Given the description of an element on the screen output the (x, y) to click on. 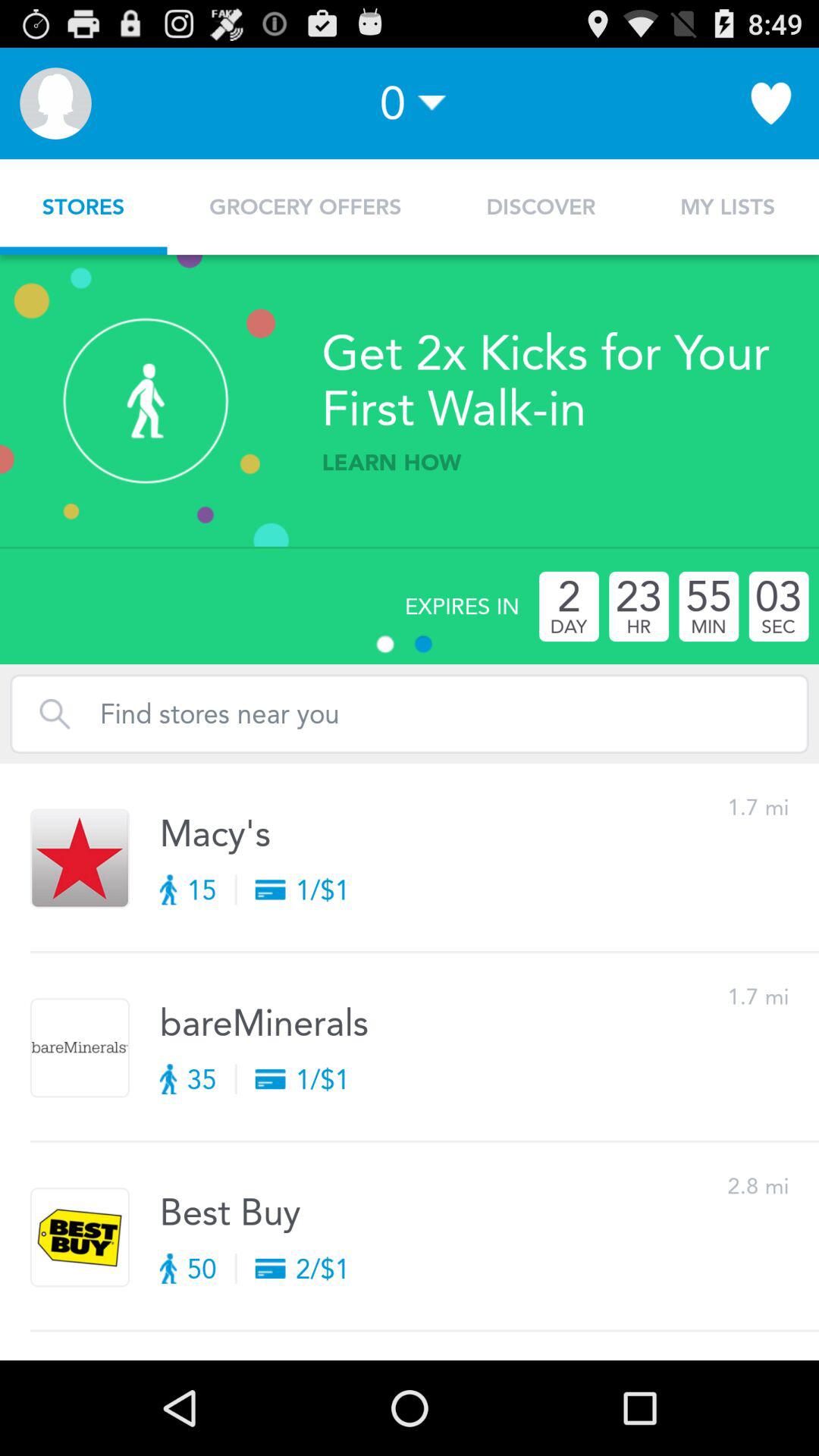
click the icon to the left of the 0 item (55, 103)
